Given the description of an element on the screen output the (x, y) to click on. 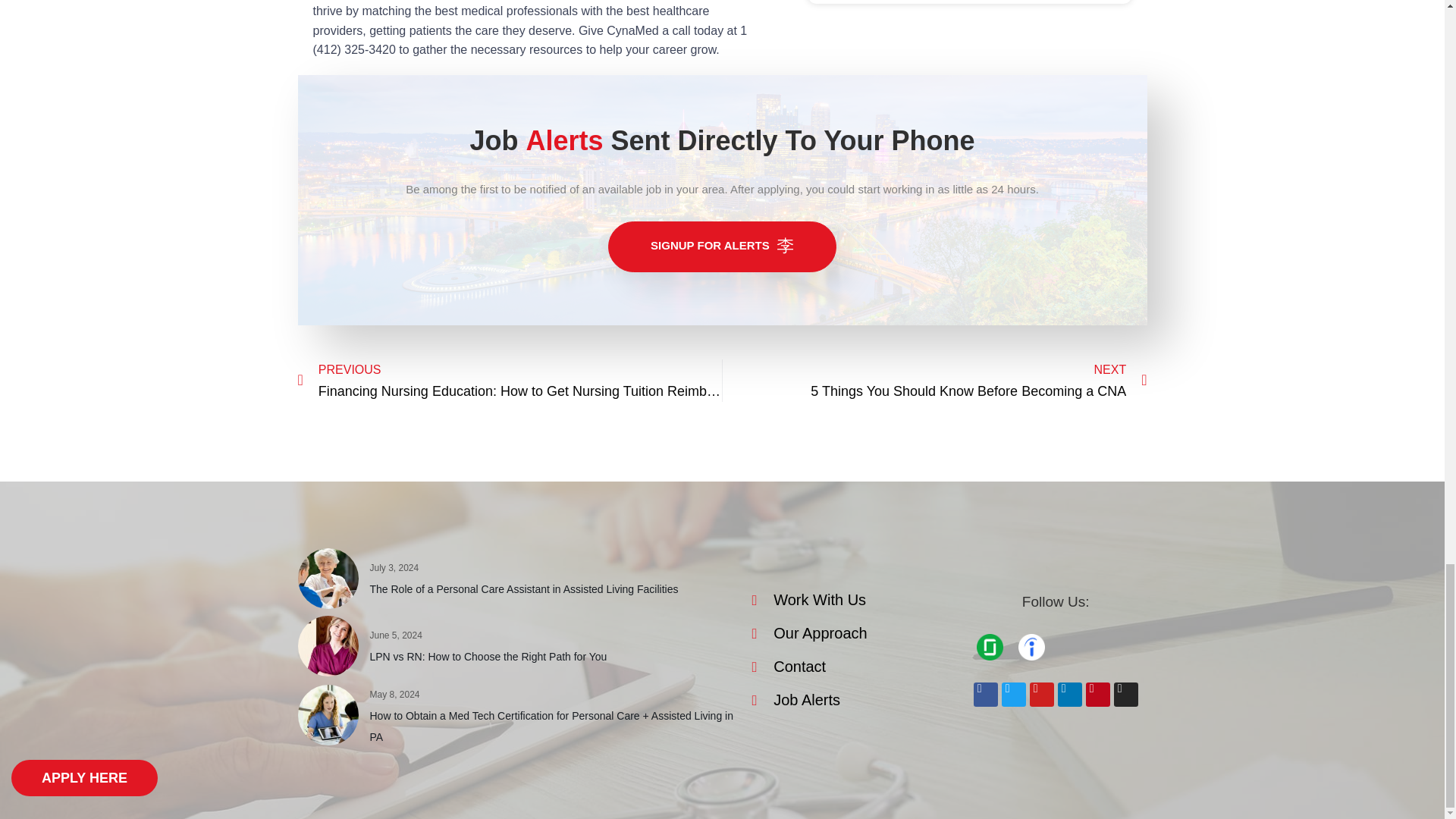
LinkedIn Embedded Content (1097, 650)
